Given the description of an element on the screen output the (x, y) to click on. 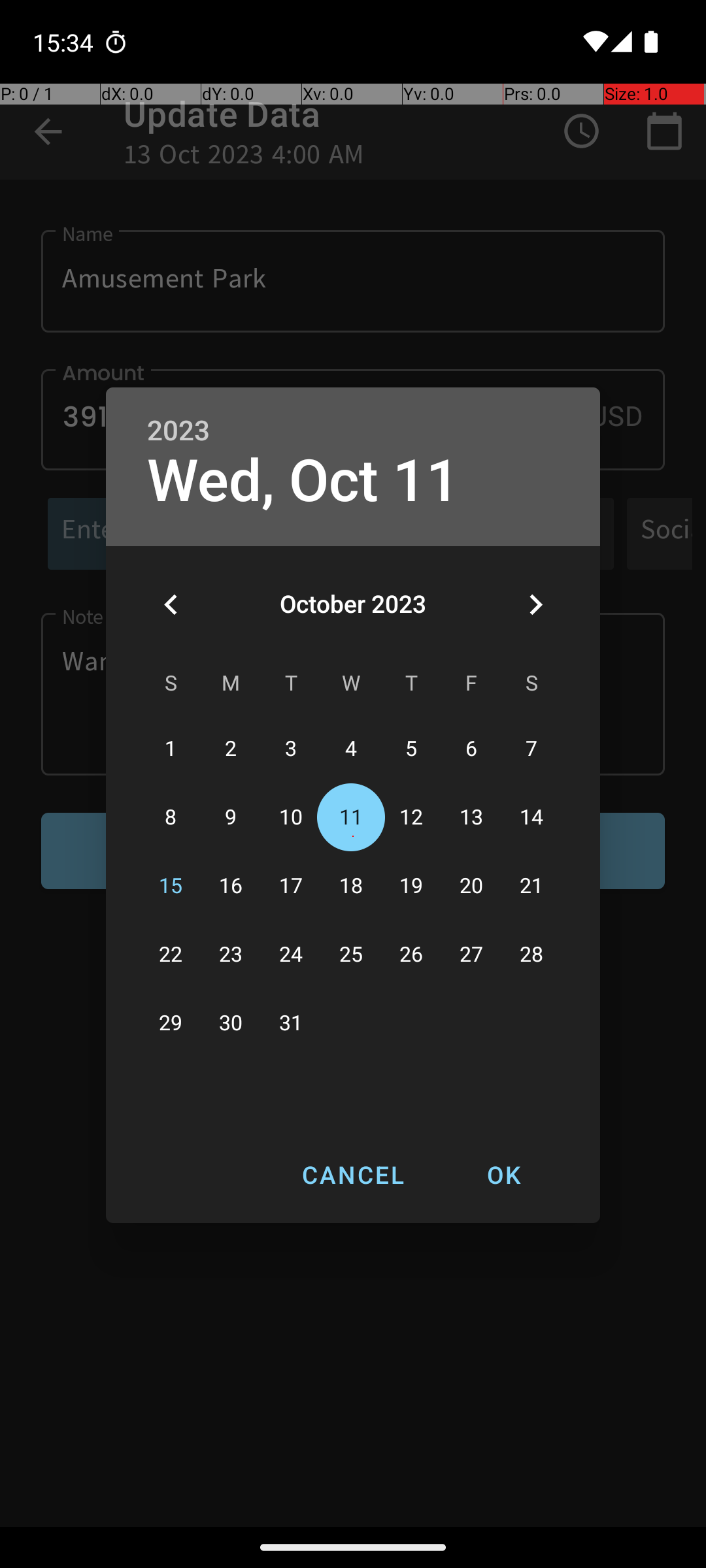
Wed, Oct 11 Element type: android.widget.TextView (303, 480)
